Given the description of an element on the screen output the (x, y) to click on. 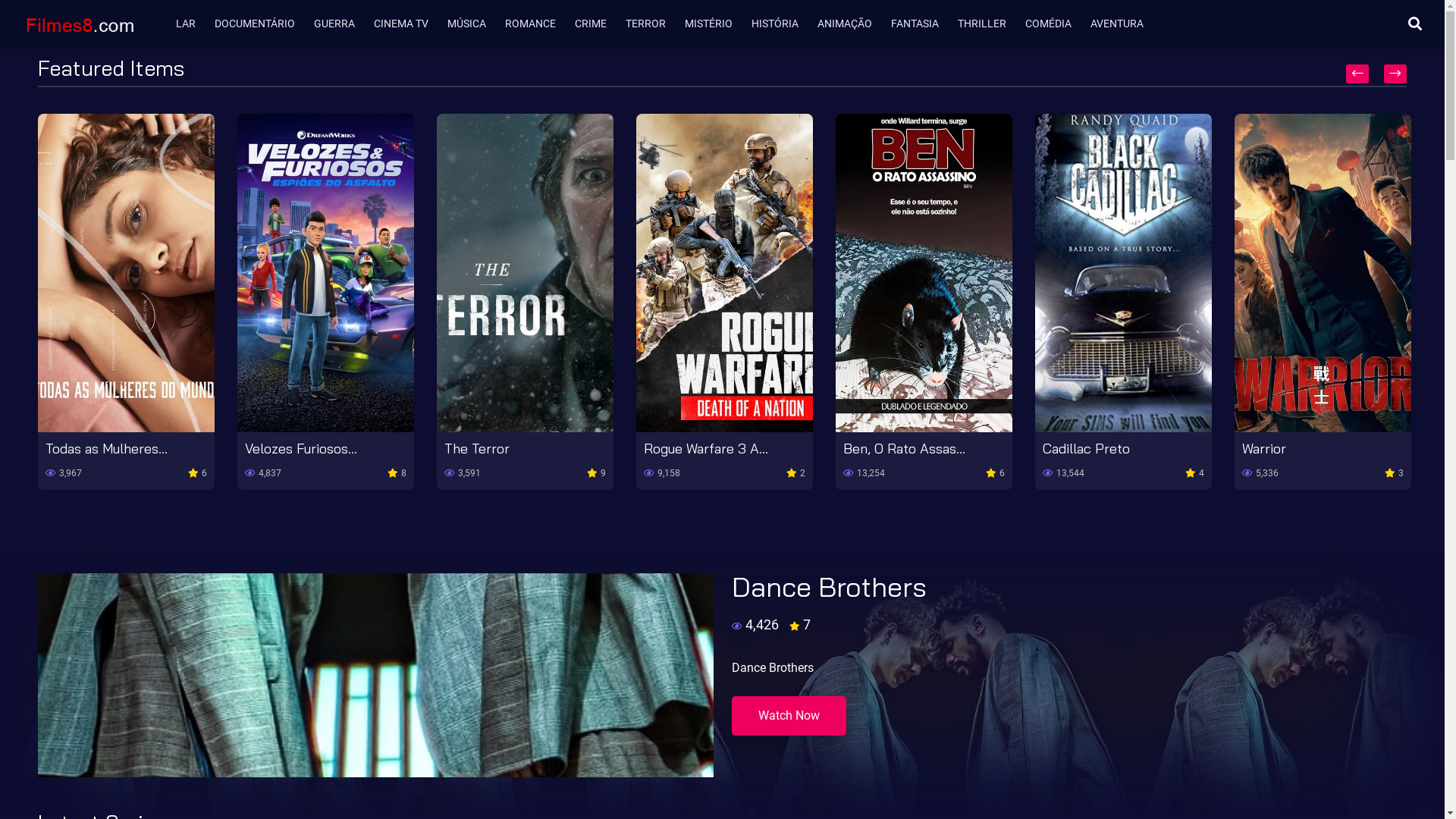
Velozes Furiosos... Element type: text (699, 448)
Todas as Mulheres... Element type: text (505, 448)
Ben, O Rato Assas... Element type: text (1303, 448)
CRIME Element type: text (596, 24)
FANTASIA Element type: text (920, 24)
CINEMA TV Element type: text (406, 24)
ROMANCE Element type: text (536, 24)
THRILLER Element type: text (987, 24)
LAR Element type: text (191, 24)
TERROR Element type: text (651, 24)
AVENTURA Element type: text (1122, 24)
Trying Element type: text (263, 448)
Dance Brothers Element type: text (828, 587)
Watch Now Element type: text (788, 715)
iCarly Element type: text (62, 448)
GUERRA Element type: text (339, 24)
Rogue Warfare 3 A... Element type: text (1104, 448)
The Terror Element type: text (875, 448)
